Given the description of an element on the screen output the (x, y) to click on. 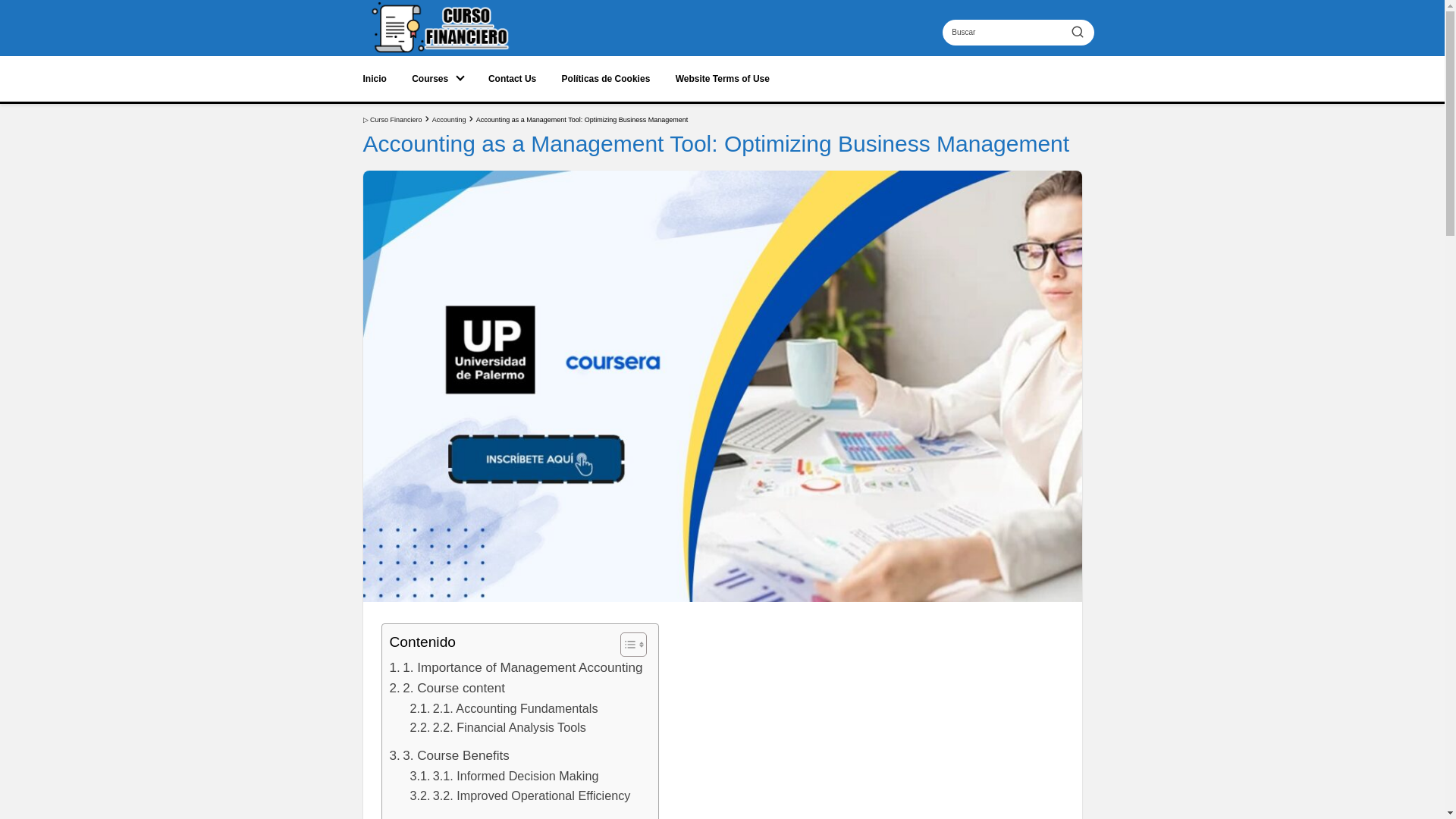
Accounting (448, 119)
3.1. Informed Decision Making (503, 776)
2.1. Accounting Fundamentals (502, 709)
Contact Us (511, 78)
3.2. Improved Operational Efficiency (519, 795)
4. Practical applications (464, 816)
Inicio (373, 78)
2.2. Financial Analysis Tools (497, 727)
4. Practical applications (464, 816)
2.1. Accounting Fundamentals (502, 709)
